Given the description of an element on the screen output the (x, y) to click on. 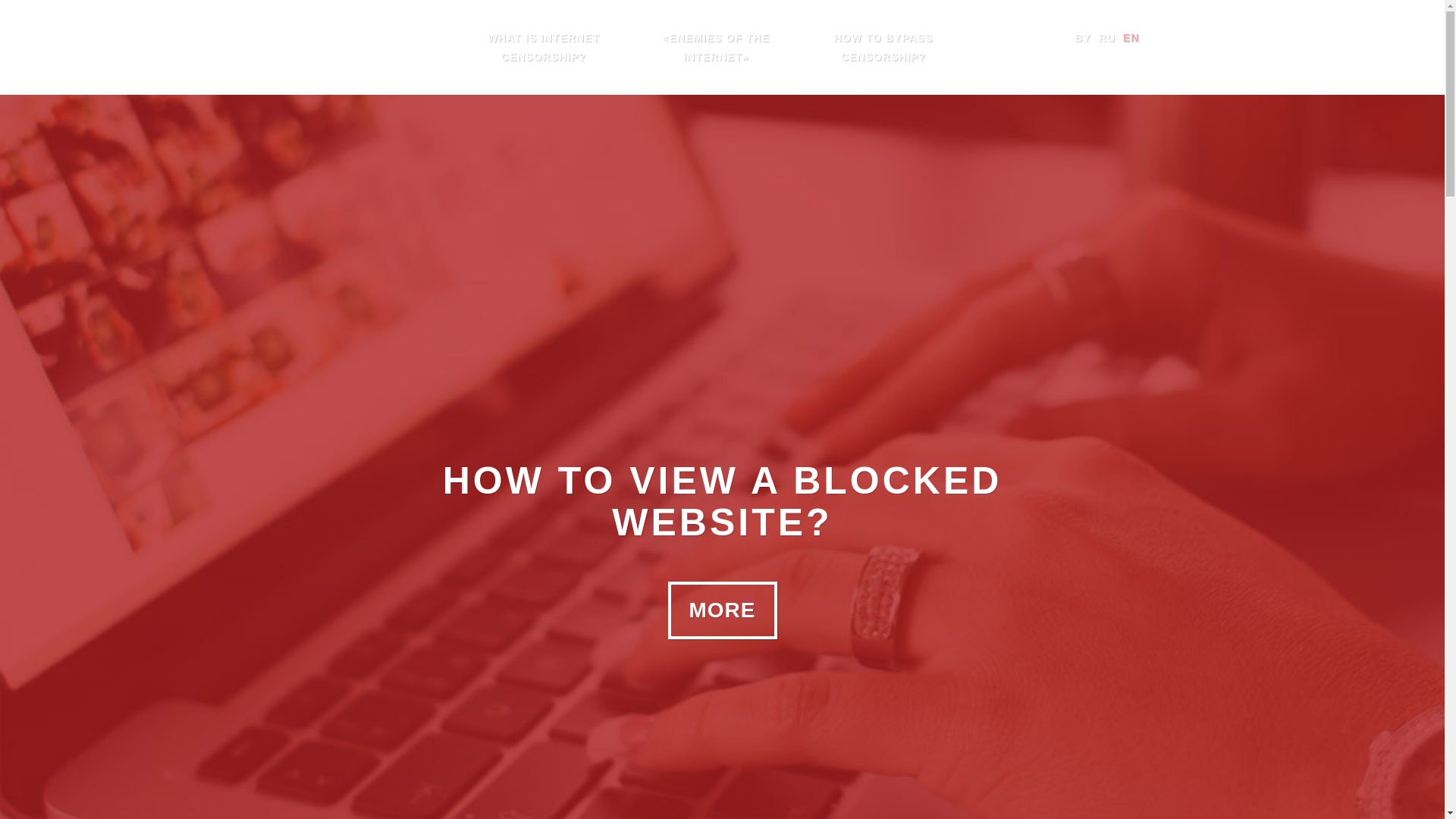
HOW TO BYPASS CENSORSHIP? (882, 47)
MORE (721, 609)
WHAT IS INTERNET CENSORSHIP? (543, 47)
